Given the description of an element on the screen output the (x, y) to click on. 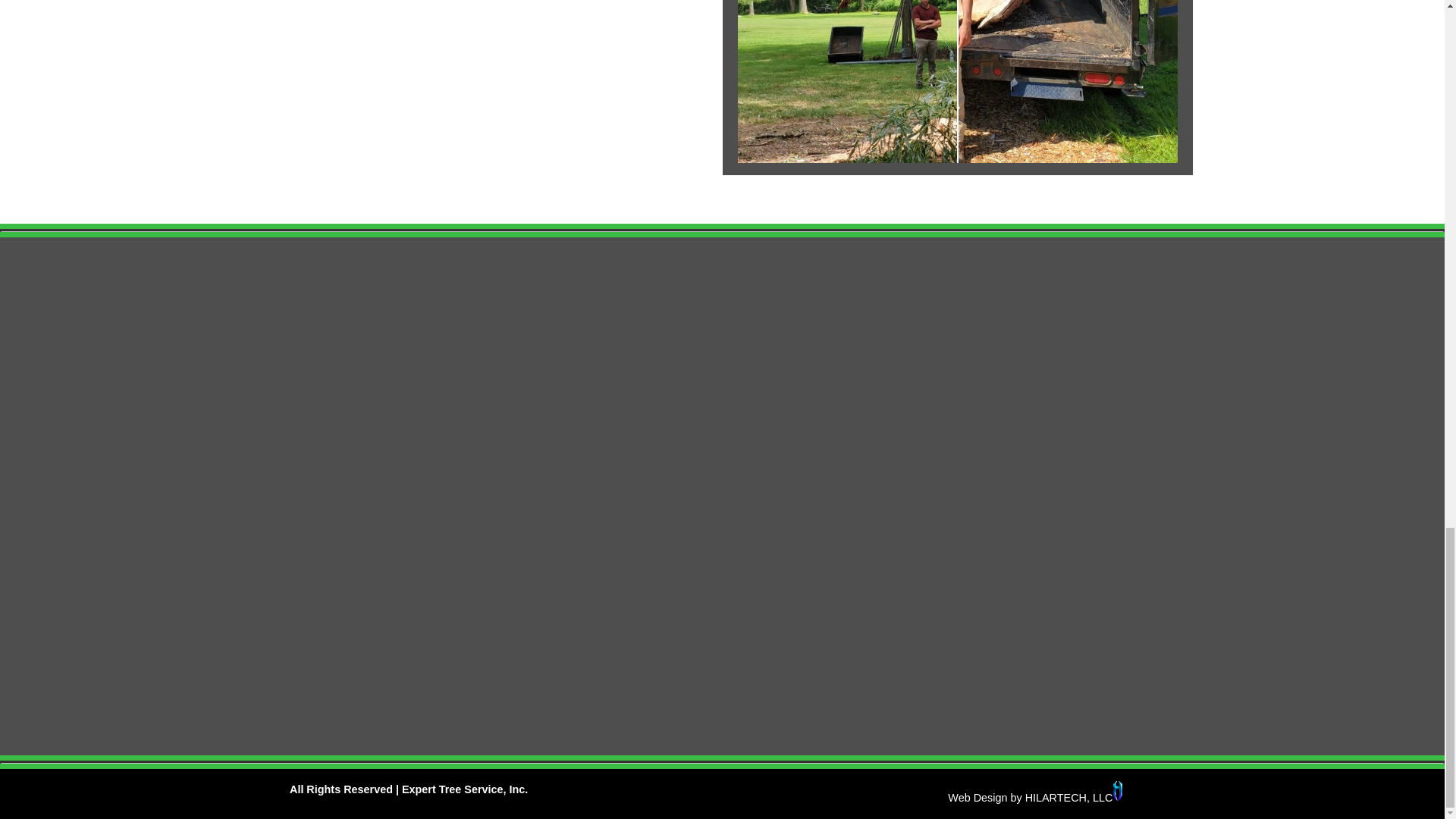
Web Design by HILARTECH, LLC (1034, 797)
